Given the description of an element on the screen output the (x, y) to click on. 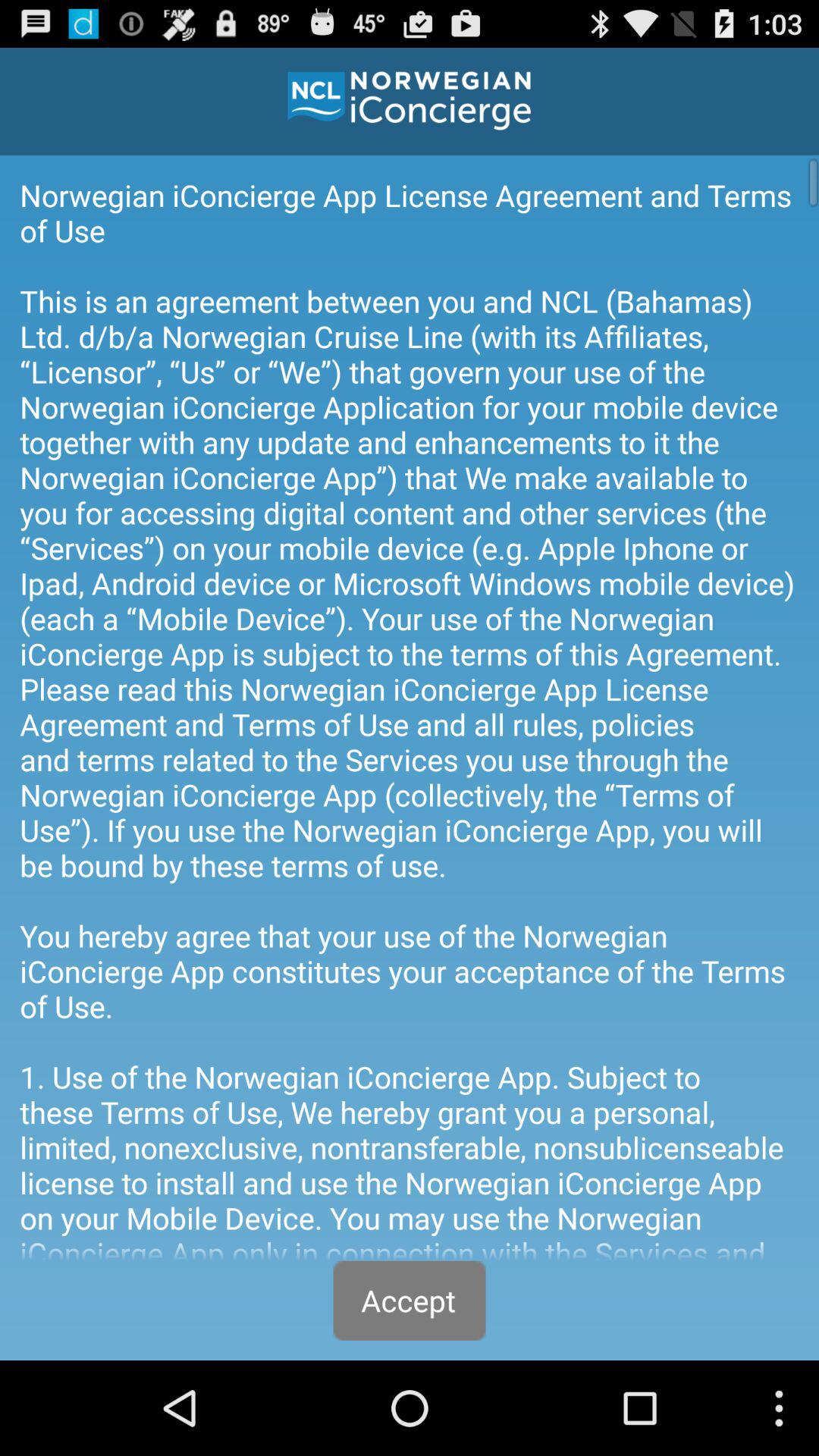
choose item below norwegian iconcierge app (409, 1300)
